Given the description of an element on the screen output the (x, y) to click on. 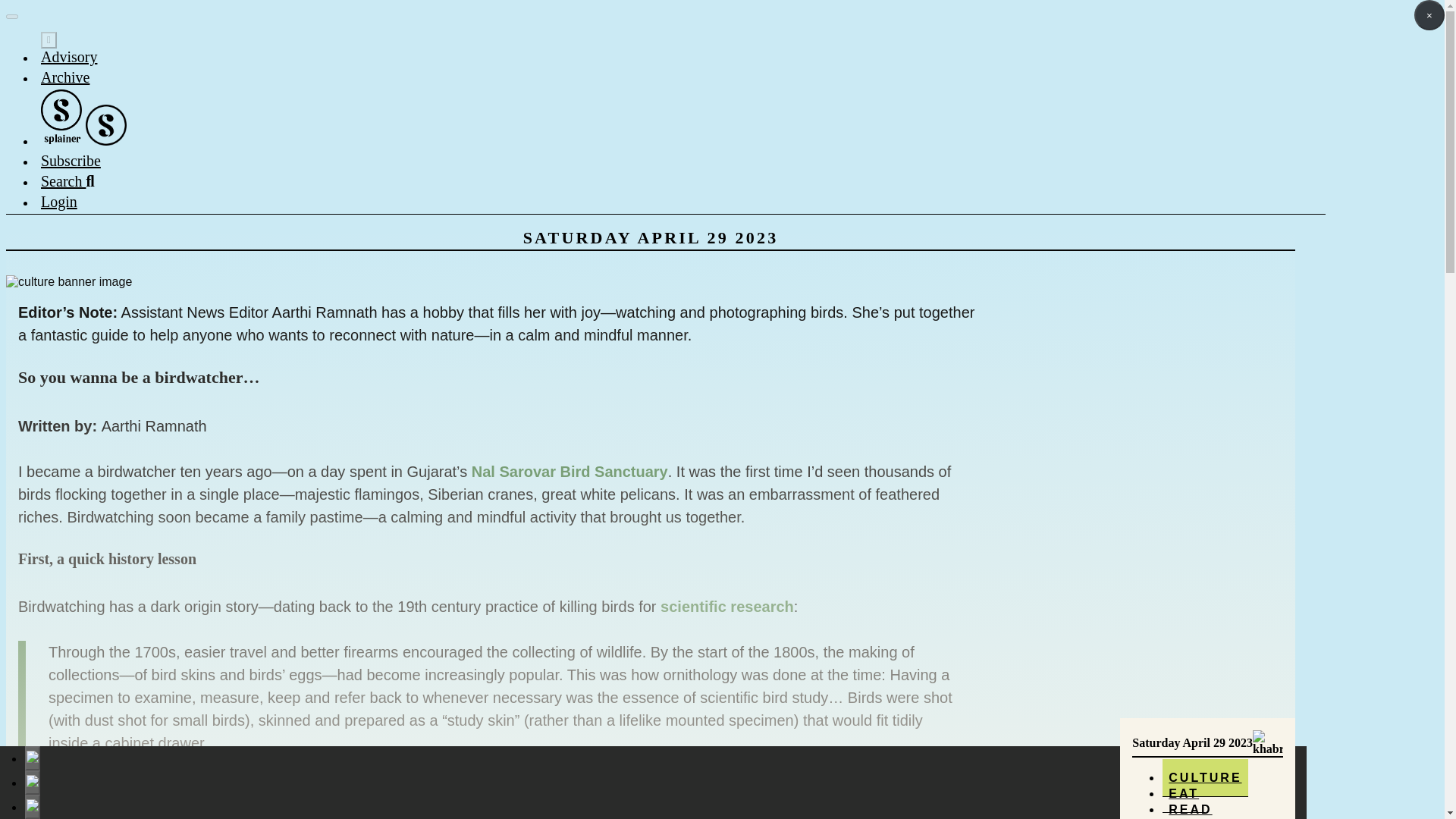
READ (1189, 805)
Login (58, 201)
Archive (64, 76)
Advisory (68, 56)
Nal Sarovar Bird Sanctuary (569, 471)
WATCH (1194, 812)
Subscribe (70, 160)
EAT (1183, 793)
Menu (48, 39)
Search (67, 180)
CULTURE (1204, 777)
Edmund Selous (459, 788)
scientific research (727, 606)
